Given the description of an element on the screen output the (x, y) to click on. 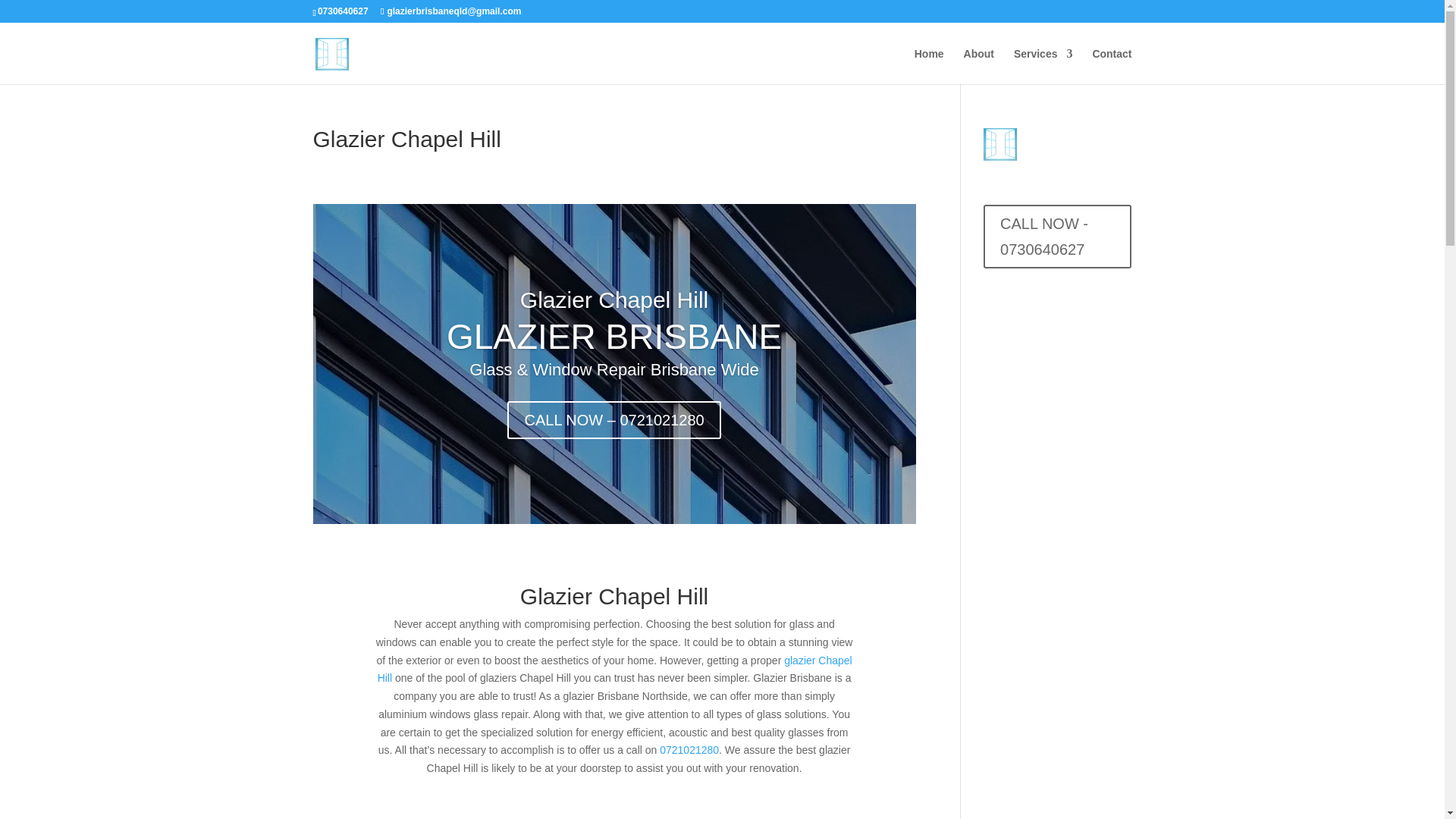
glazier Chapel Hill (614, 668)
0730640627 (345, 10)
Services (1043, 66)
CALL NOW - 0730640627 (1057, 236)
0721021280 (689, 749)
Contact (1111, 66)
